Given the description of an element on the screen output the (x, y) to click on. 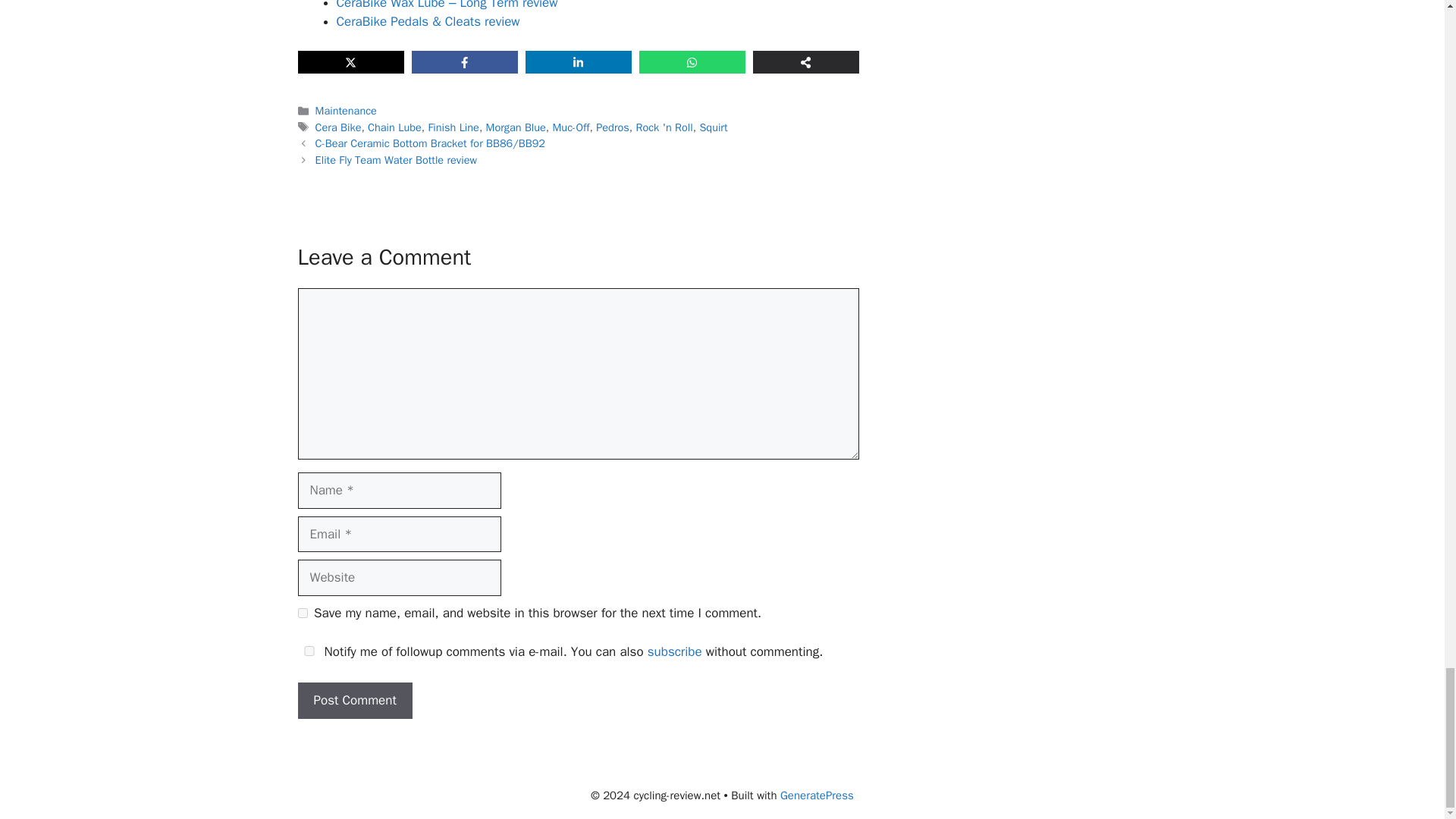
Post Comment (354, 700)
yes (302, 613)
yes (308, 651)
